Given the description of an element on the screen output the (x, y) to click on. 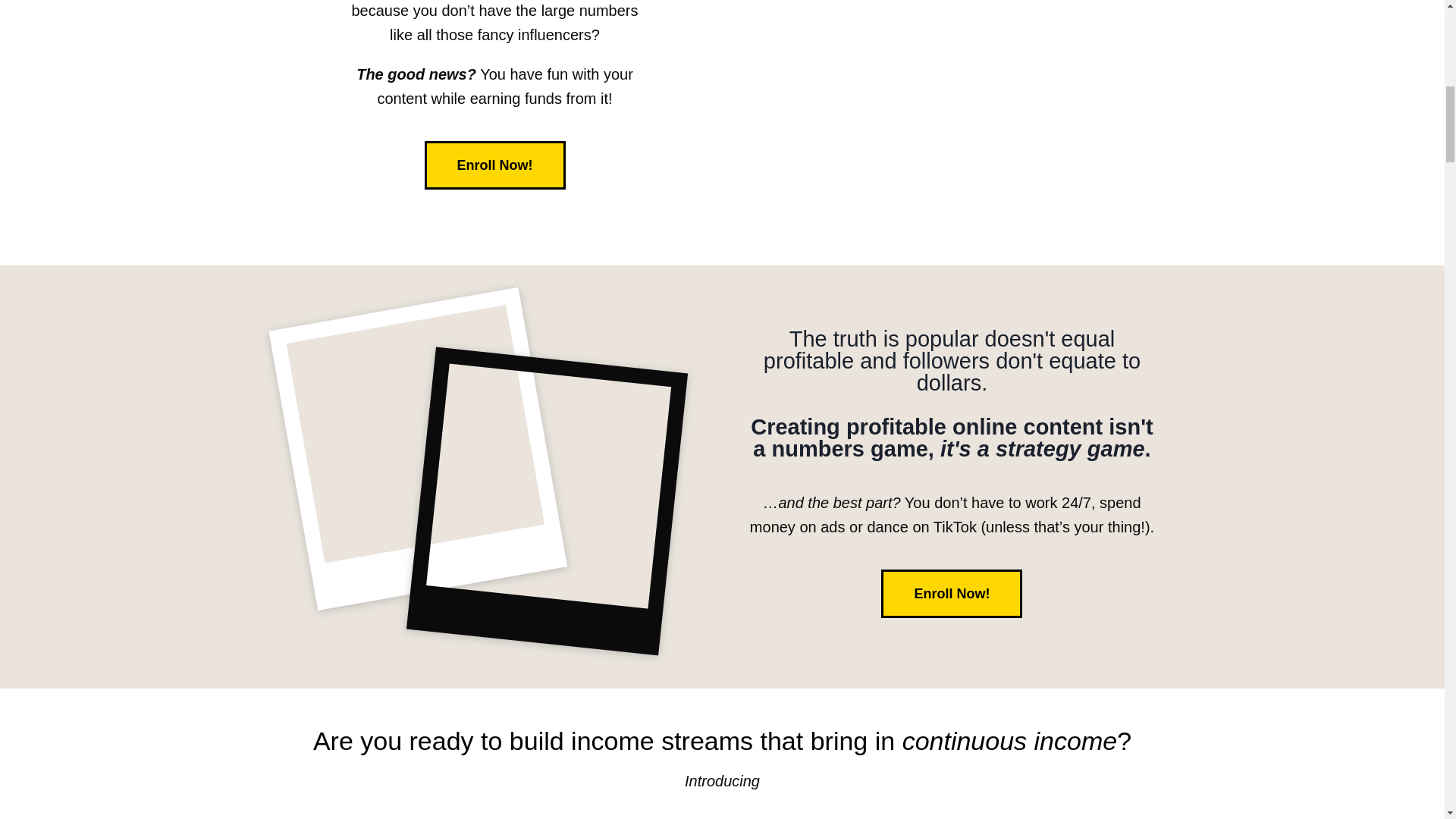
Enroll Now! (495, 164)
Enroll Now! (951, 593)
